Given the description of an element on the screen output the (x, y) to click on. 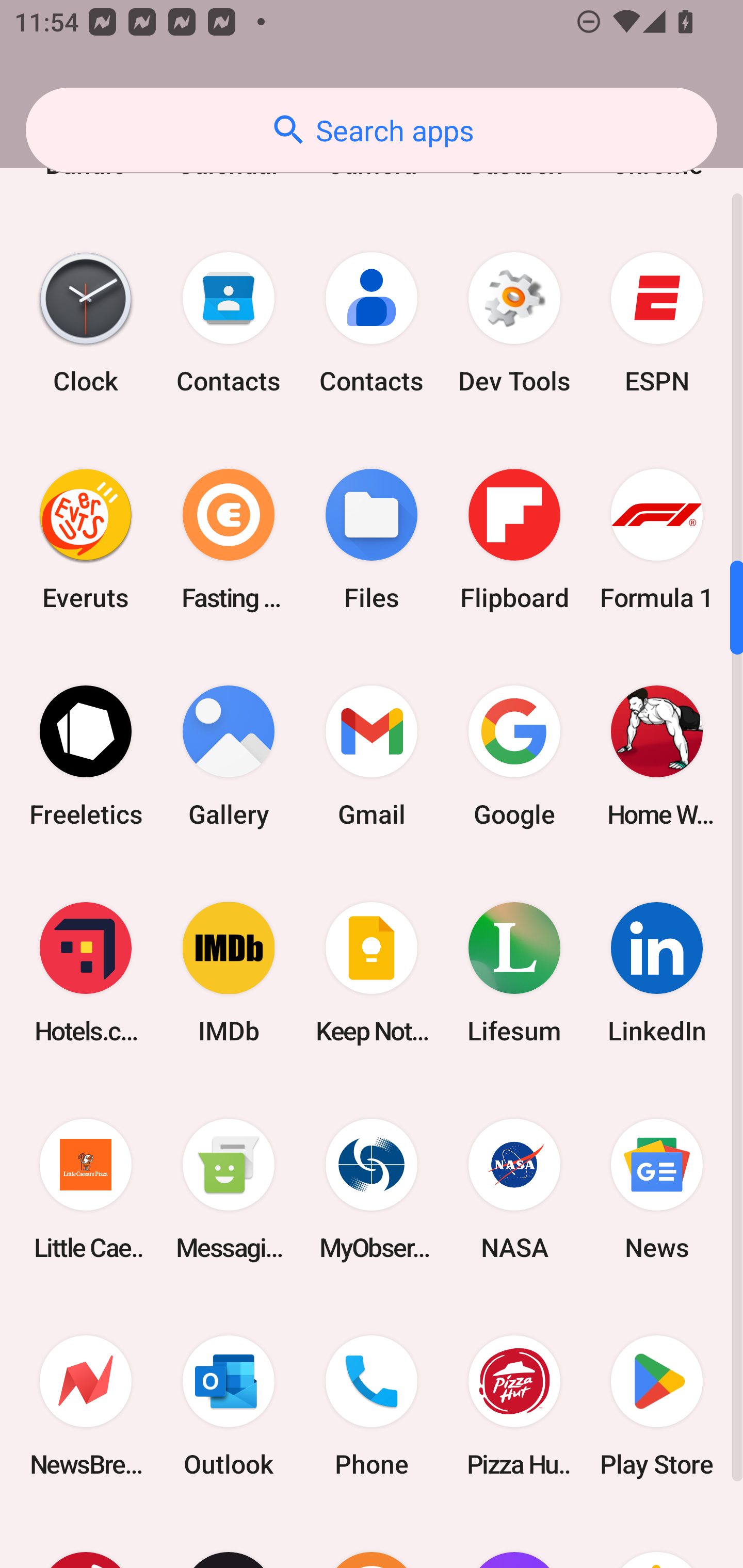
  Search apps (371, 130)
Clock (85, 322)
Contacts (228, 322)
Contacts (371, 322)
Dev Tools (514, 322)
ESPN (656, 322)
Everuts (85, 539)
Fasting Coach (228, 539)
Files (371, 539)
Flipboard (514, 539)
Formula 1 (656, 539)
Freeletics (85, 755)
Gallery (228, 755)
Gmail (371, 755)
Google (514, 755)
Home Workout (656, 755)
Hotels.com (85, 971)
IMDb (228, 971)
Keep Notes (371, 971)
Lifesum (514, 971)
LinkedIn (656, 971)
Little Caesars Pizza (85, 1189)
Messaging (228, 1189)
MyObservatory (371, 1189)
NASA (514, 1189)
News (656, 1189)
NewsBreak (85, 1406)
Outlook (228, 1406)
Phone (371, 1406)
Pizza Hut HK & Macau (514, 1406)
Play Store (656, 1406)
